Given the description of an element on the screen output the (x, y) to click on. 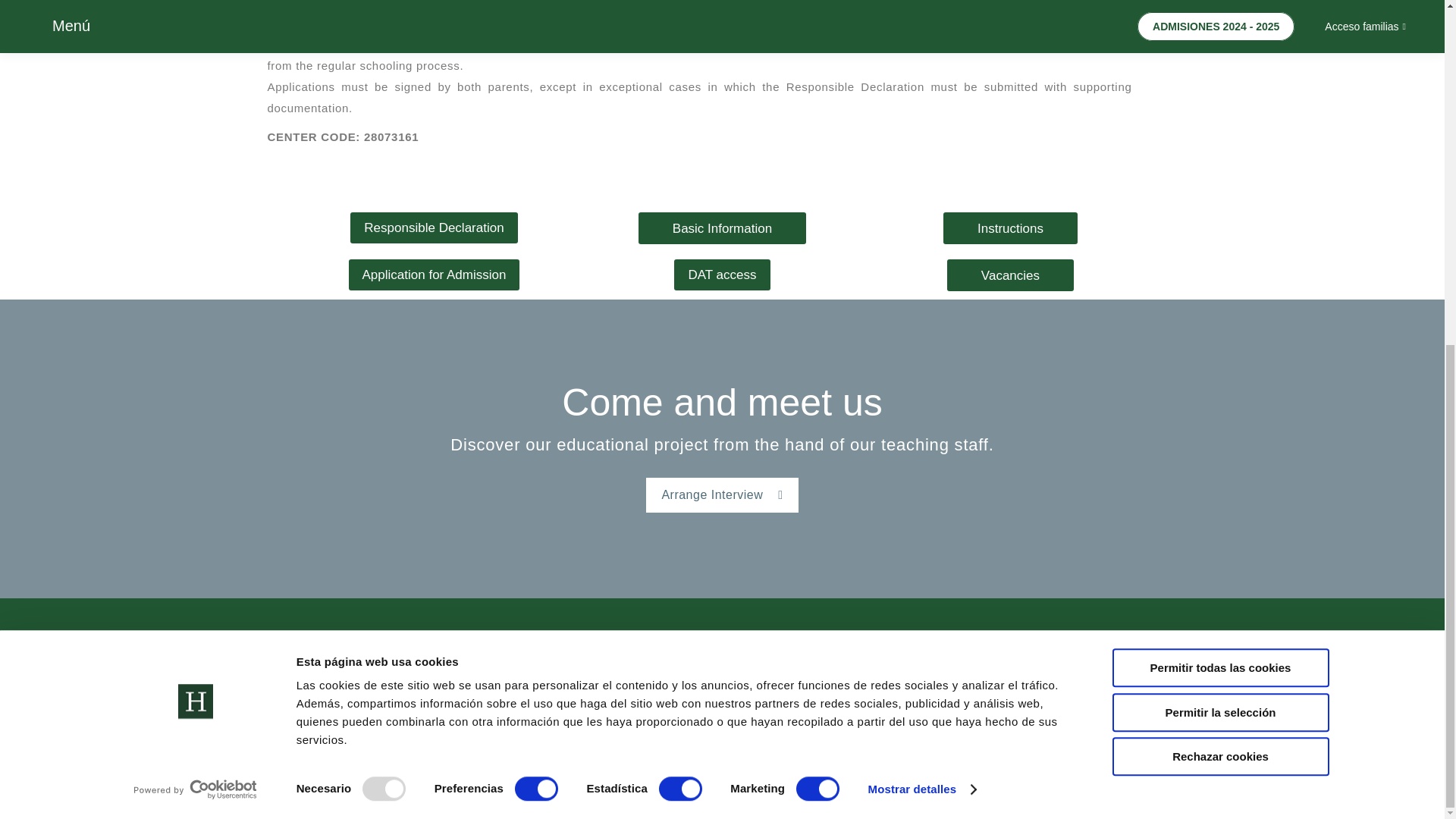
Web GBE page opens in new window (1117, 723)
Permitir todas las cookies (1219, 75)
Rechazar cookies (1219, 164)
Mostrar detalles (921, 197)
